Given the description of an element on the screen output the (x, y) to click on. 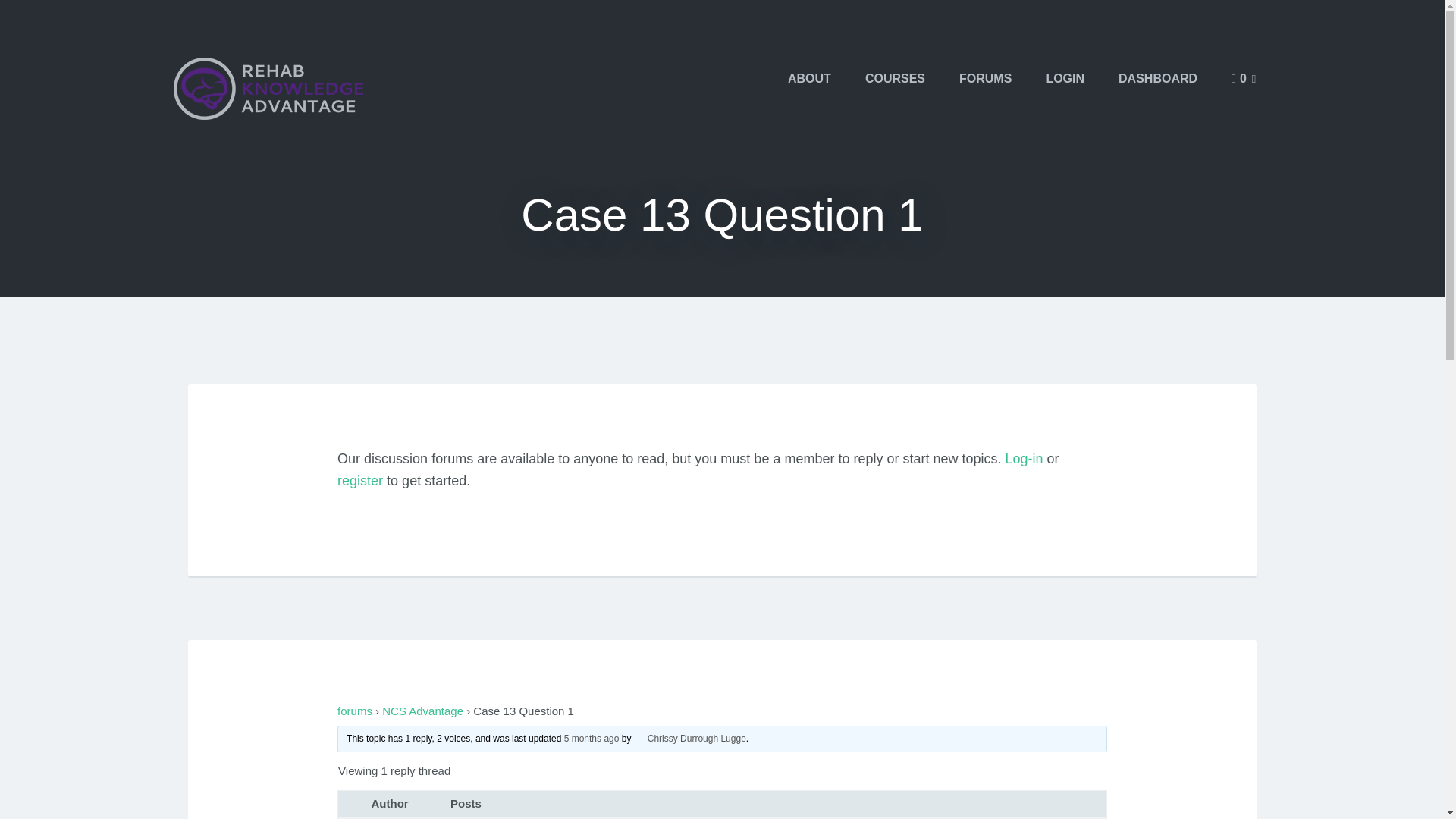
0 (1243, 78)
COURSES (895, 78)
FORUMS (984, 78)
5 months ago (592, 738)
ABOUT (809, 78)
forums (354, 710)
LOGIN (1064, 78)
DASHBOARD (1157, 78)
Log-in (1024, 458)
Reply To: Case 13 Question 1 (592, 738)
NCS Advantage (422, 710)
View Chrissy Durrough Lugge's profile (689, 738)
Chrissy Durrough Lugge (689, 738)
register (359, 480)
